Given the description of an element on the screen output the (x, y) to click on. 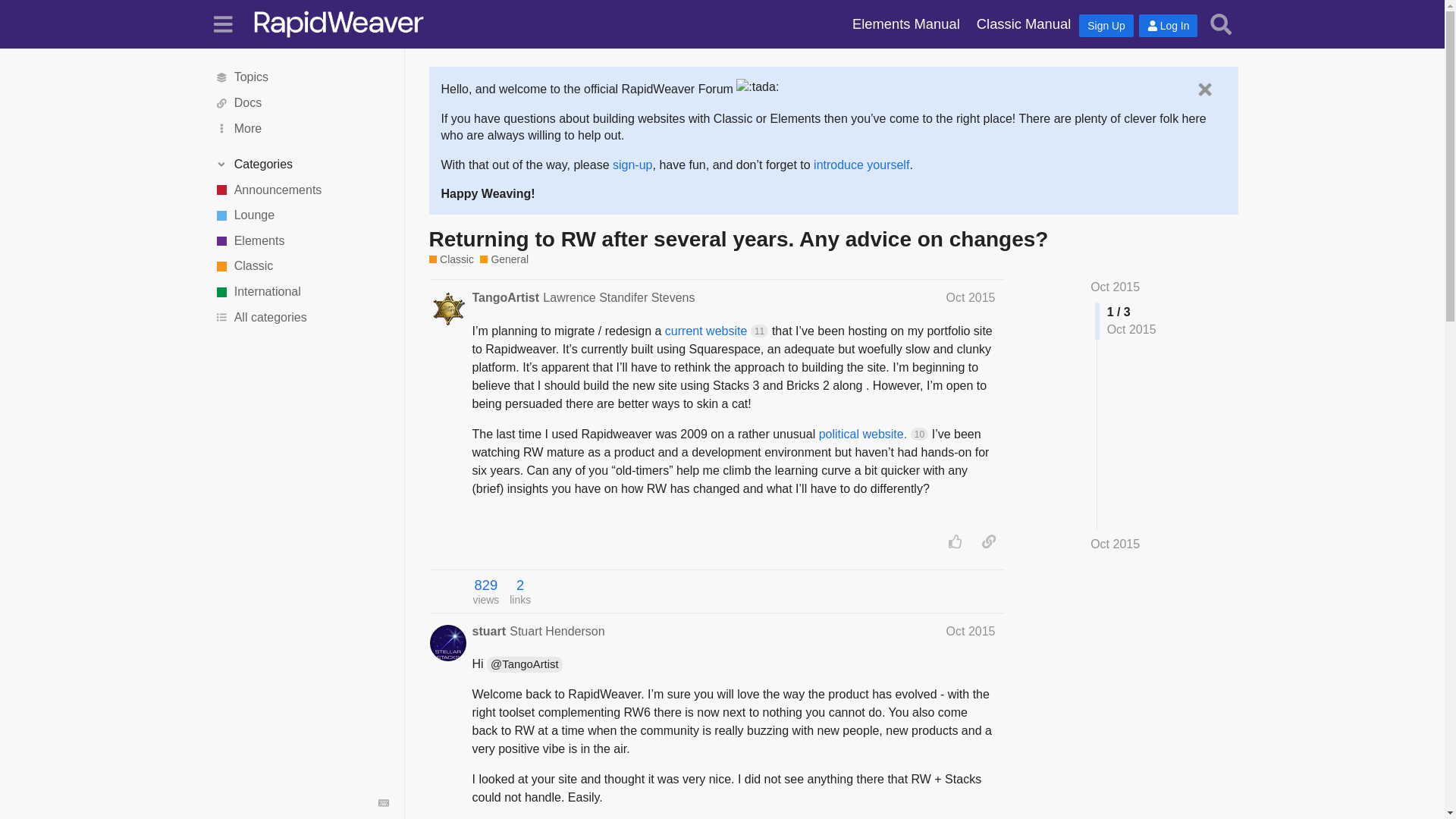
Log In (1168, 25)
TangoArtist (504, 297)
Official announcements and news from Realmac Software. (301, 190)
Sign Up (1105, 25)
Oct 2015 (970, 297)
Keyboard Shortcuts (384, 802)
More (301, 128)
Dismiss this banner (1204, 88)
